Given the description of an element on the screen output the (x, y) to click on. 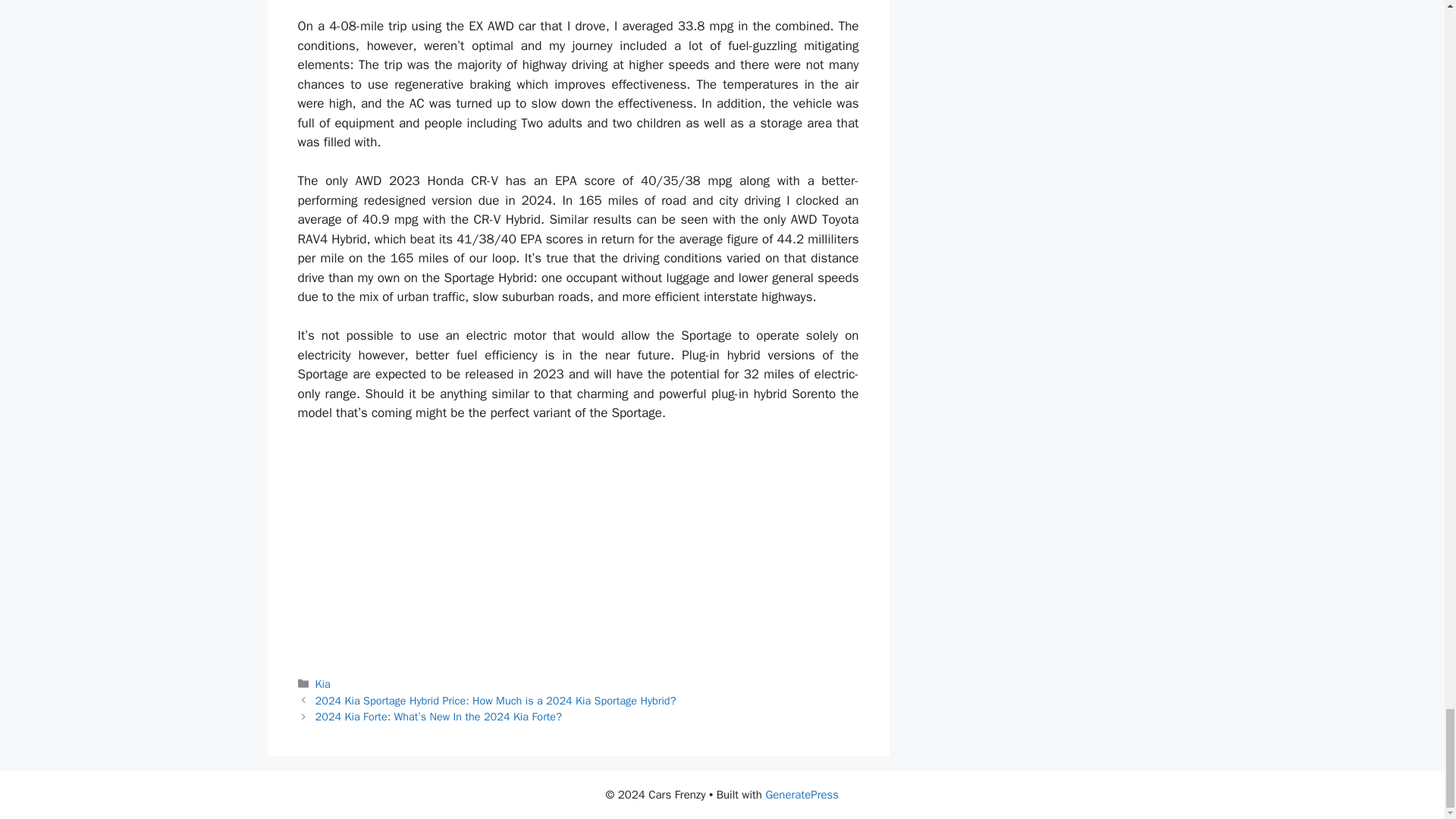
Kia (322, 684)
GeneratePress (801, 794)
